Given the description of an element on the screen output the (x, y) to click on. 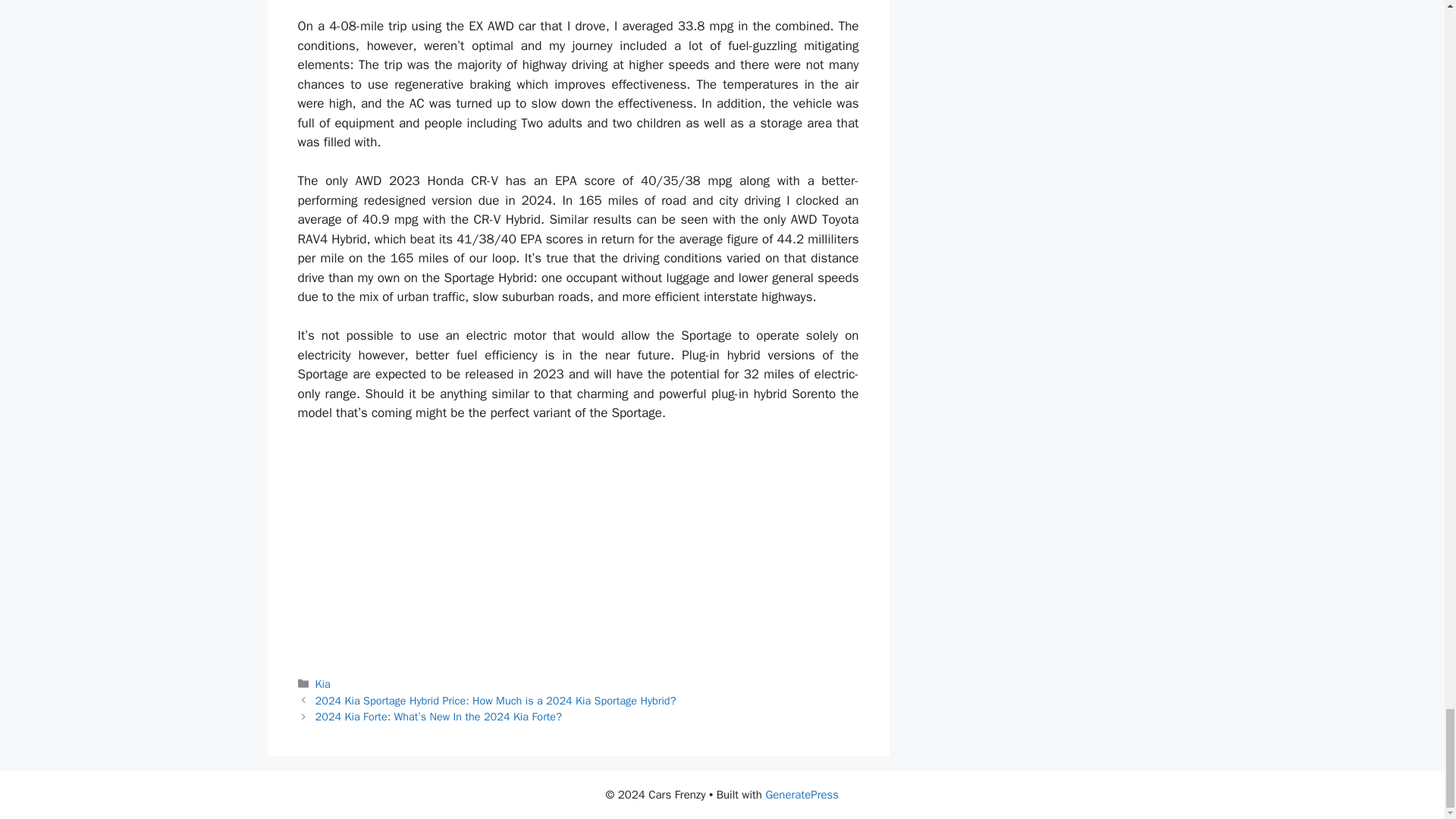
Kia (322, 684)
GeneratePress (801, 794)
